Given the description of an element on the screen output the (x, y) to click on. 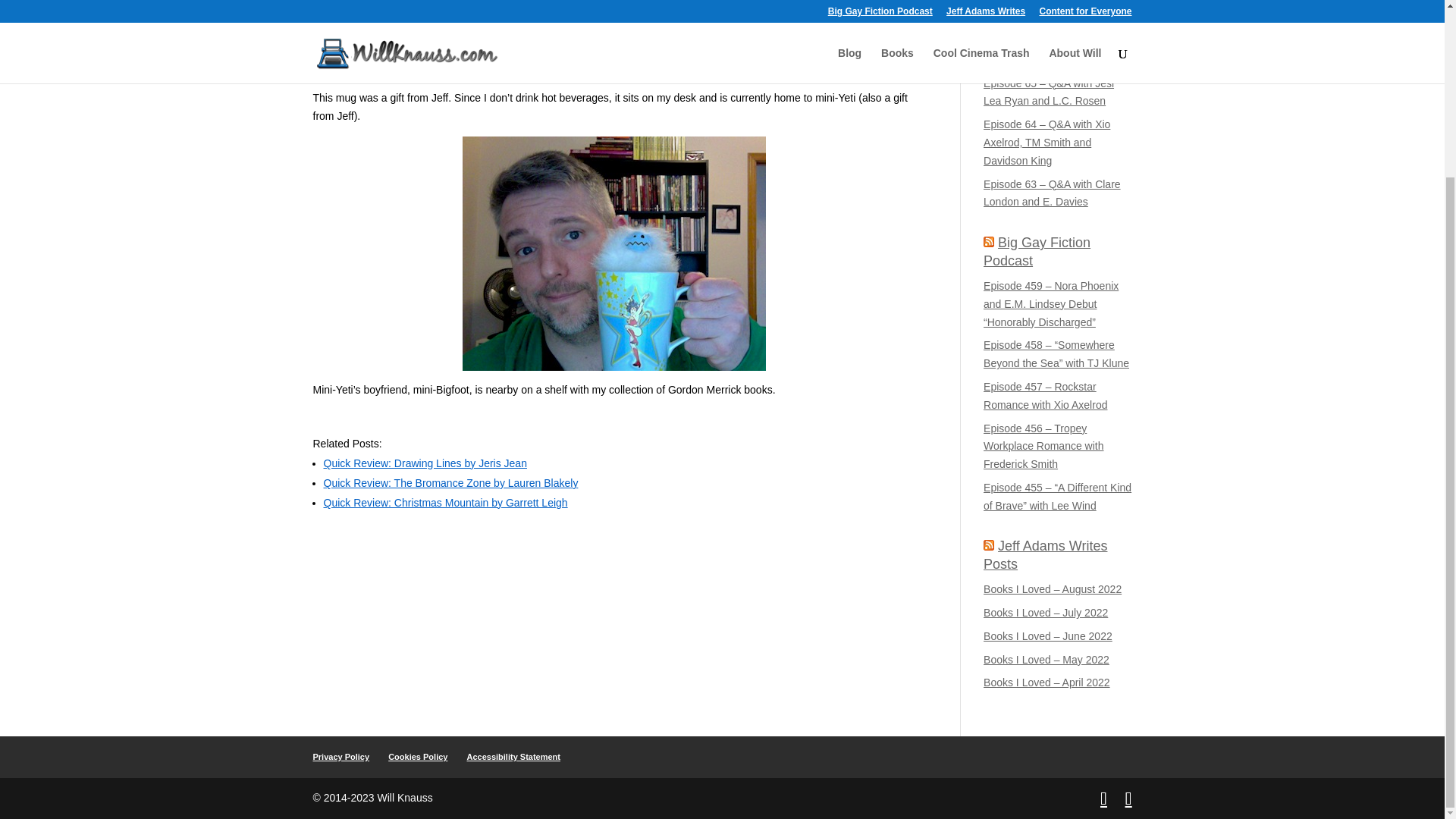
Quick Review: The Bromance Zone by Lauren Blakely (450, 482)
Big Gay Fiction Podcast (1037, 251)
Jeff Adams Writes Posts (1045, 554)
Quick Review: Christmas Mountain by Garrett Leigh (445, 502)
Quick Review: Drawing Lines by Jeris Jean (424, 463)
